Given the description of an element on the screen output the (x, y) to click on. 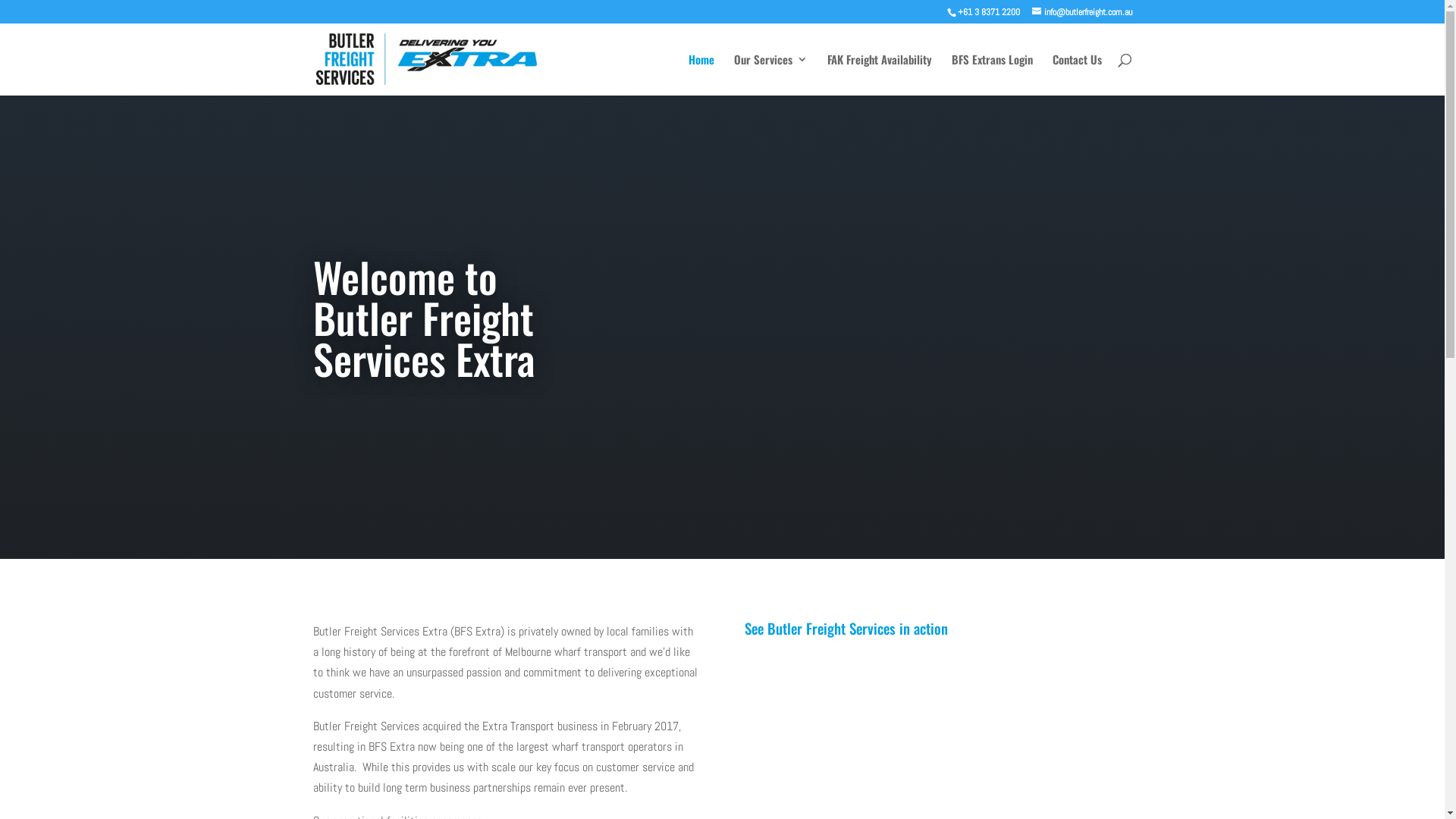
Home Element type: text (701, 74)
BFS Extrans Login Element type: text (991, 74)
Contact Us Element type: text (1076, 74)
Our Services Element type: text (770, 74)
FAK Freight Availability Element type: text (878, 74)
info@butlerfreight.com.au Element type: text (1081, 12)
